Given the description of an element on the screen output the (x, y) to click on. 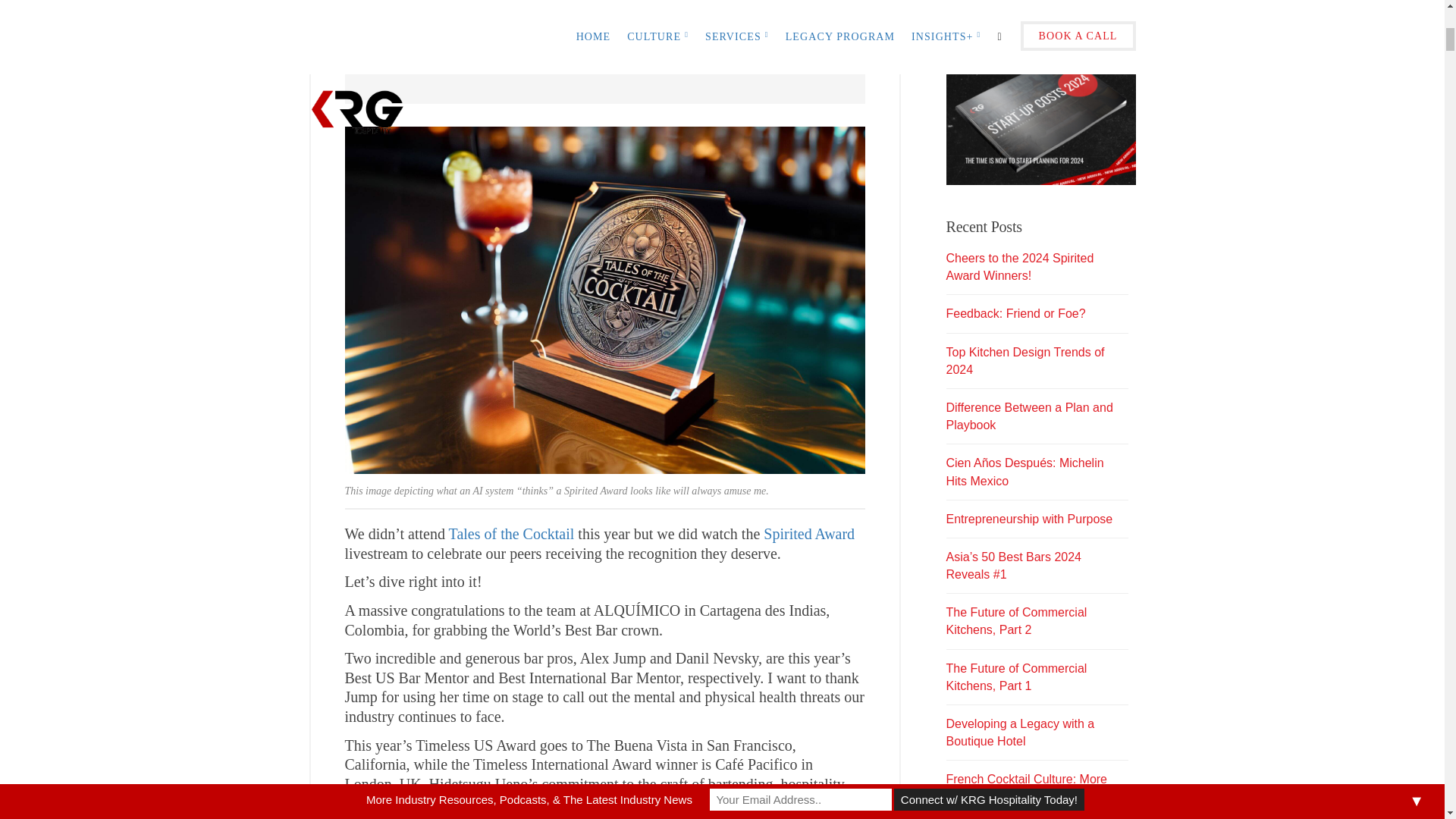
2023 Cost Guide (1040, 92)
